Given the description of an element on the screen output the (x, y) to click on. 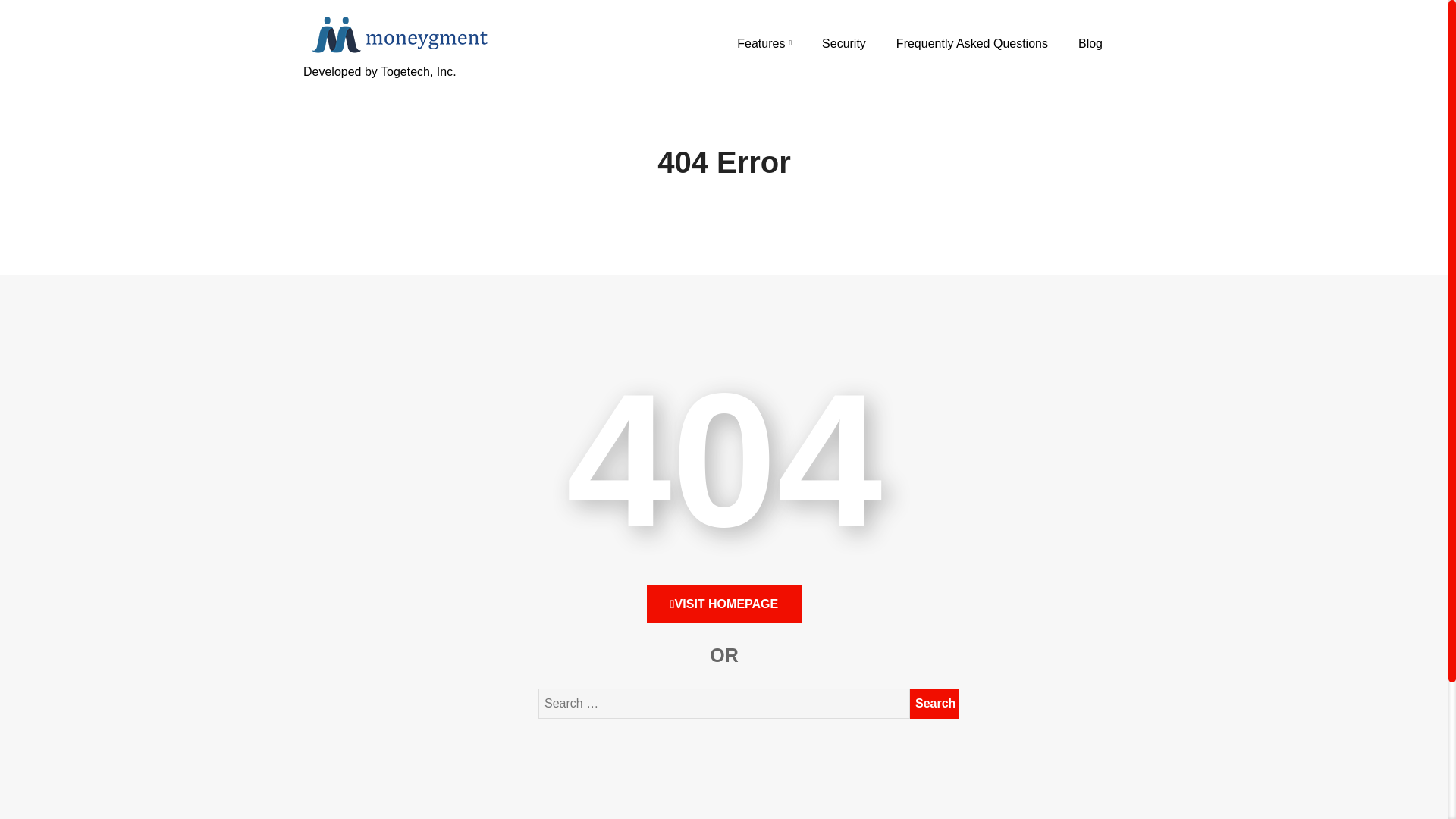
Frequently Asked Questions (972, 43)
Search (934, 703)
Security (844, 43)
Search (934, 703)
VISIT HOMEPAGE (724, 604)
Features (764, 43)
Search (934, 703)
Developed by Togetech, Inc. (397, 89)
